Given the description of an element on the screen output the (x, y) to click on. 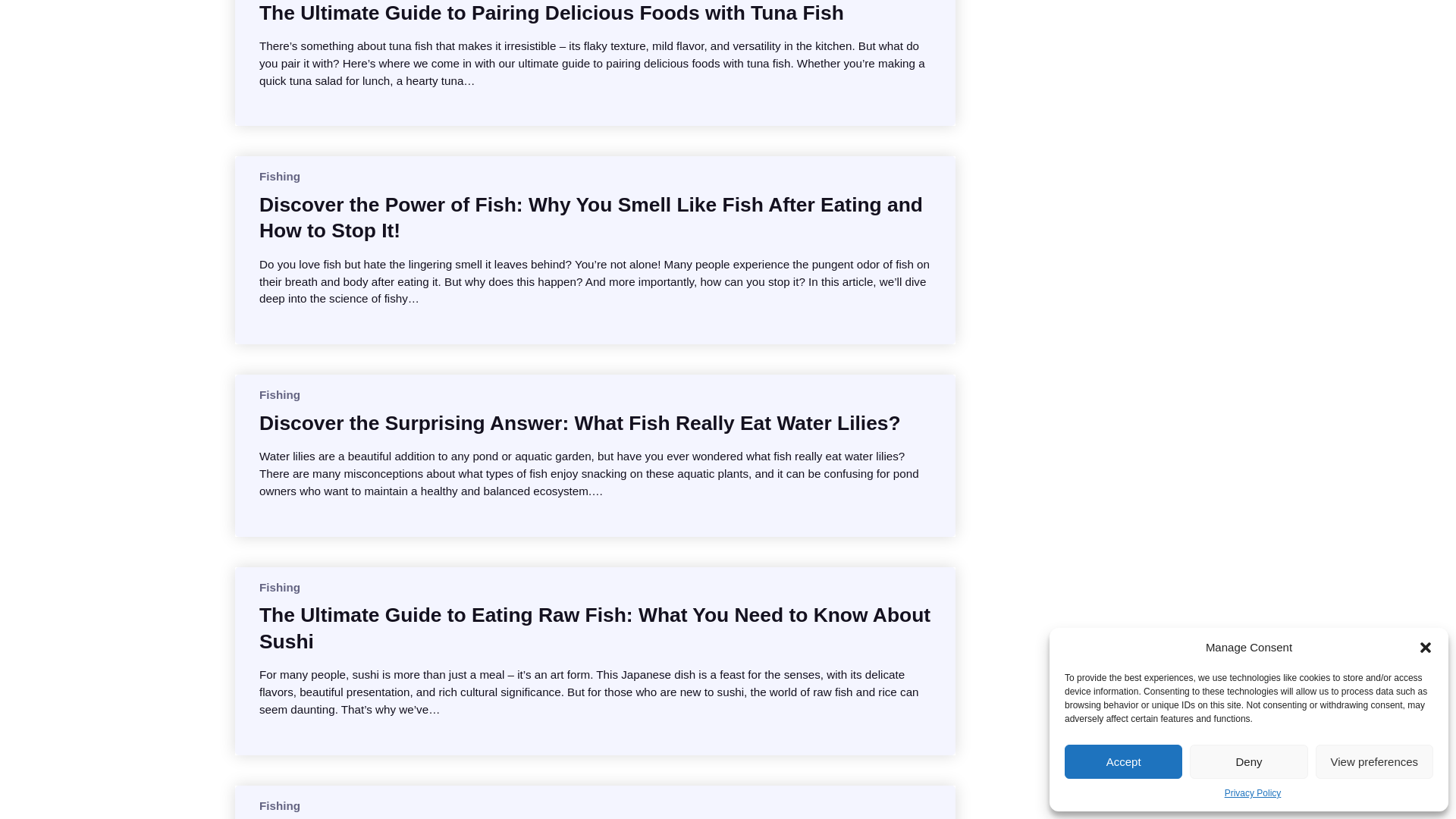
The Ultimate Guide to Pairing Delicious Foods with Tuna Fish (551, 12)
